Given the description of an element on the screen output the (x, y) to click on. 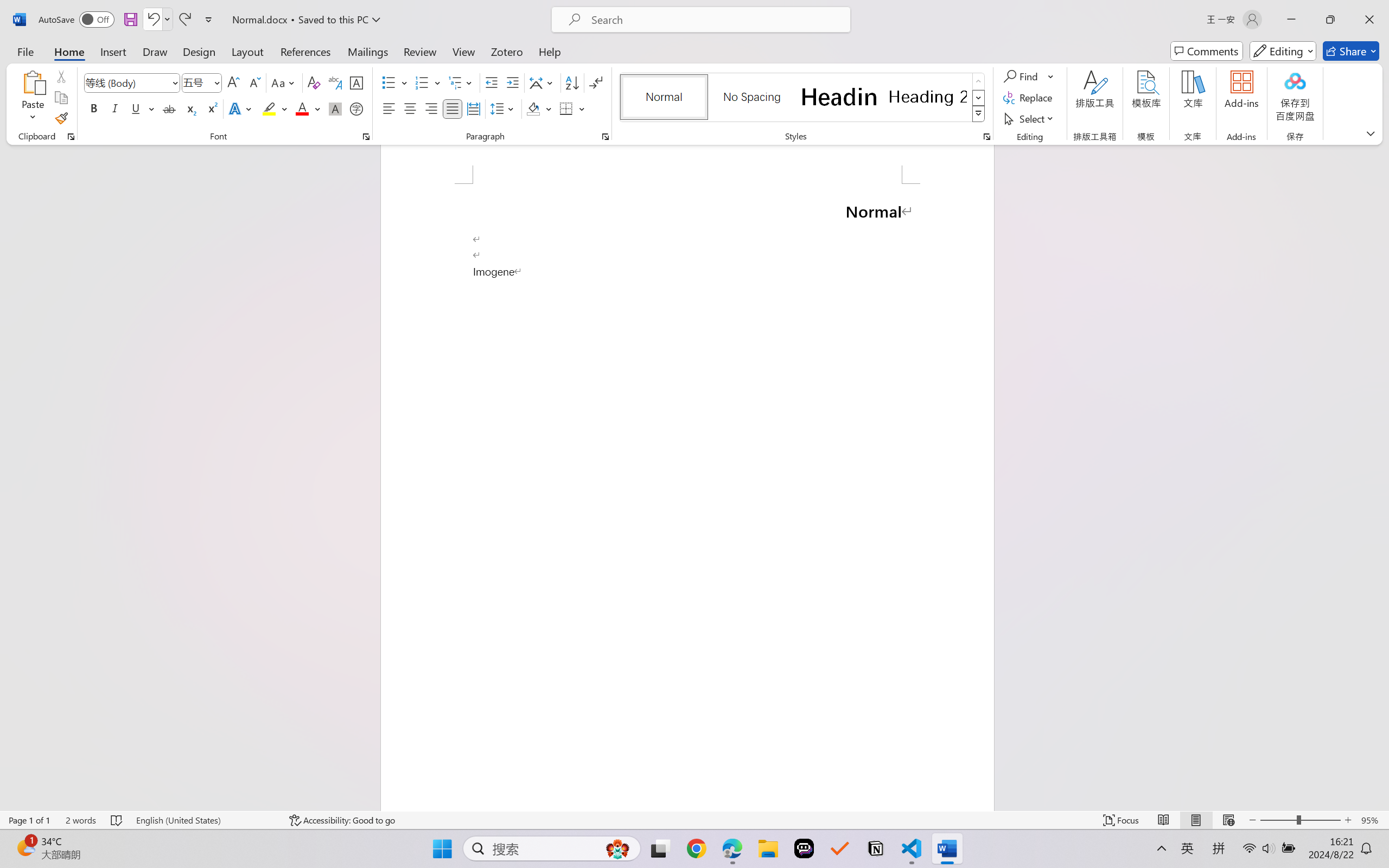
Help (549, 51)
Bold (94, 108)
Justify (452, 108)
Align Right (431, 108)
Class: NetUIScrollBar (1382, 477)
Shading (539, 108)
Clear Formatting (313, 82)
Format Painter (60, 118)
